Given the description of an element on the screen output the (x, y) to click on. 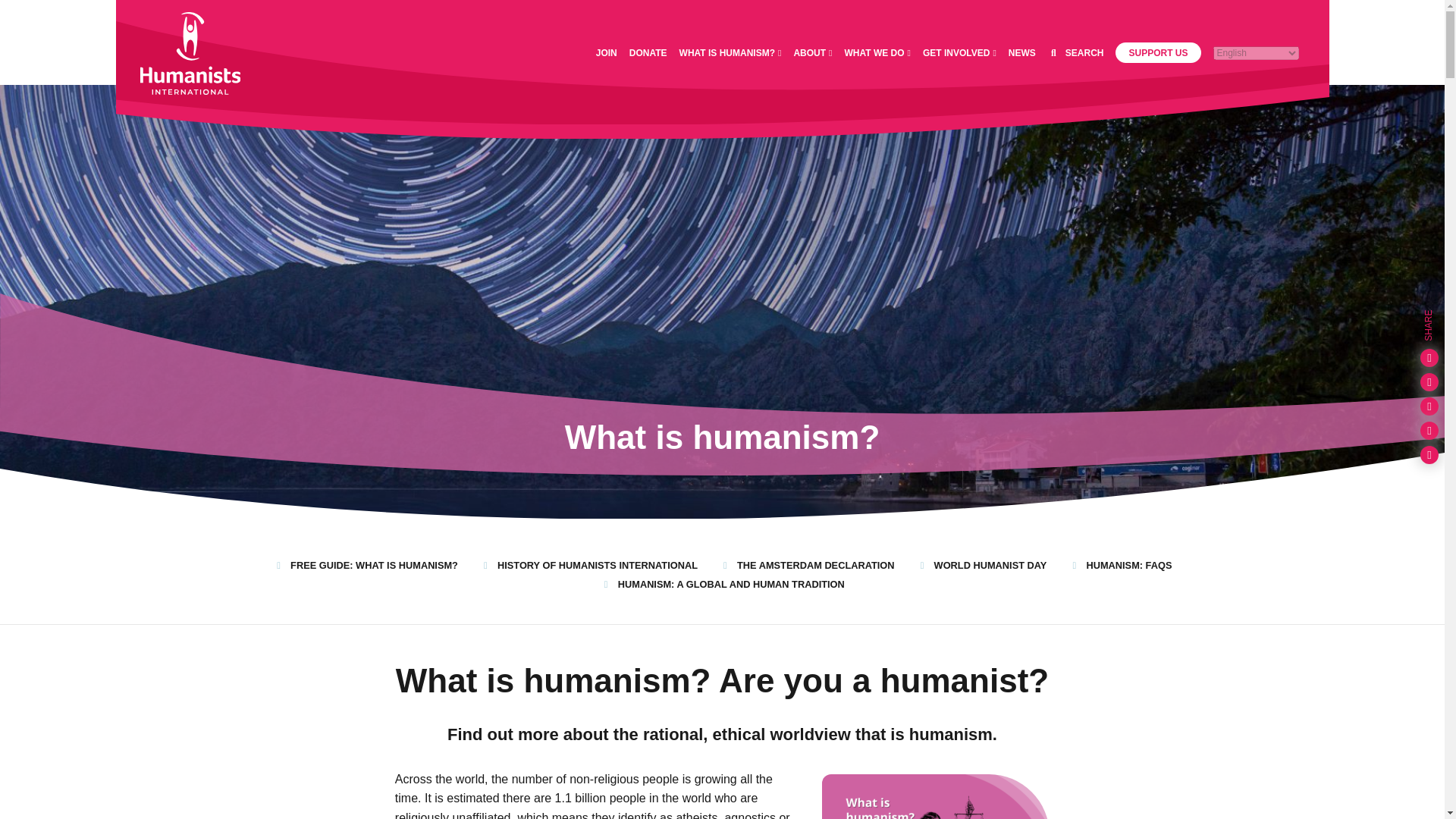
GET INVOLVED (959, 52)
JOIN (606, 52)
WHAT IS HUMANISM? (730, 52)
DONATE (647, 52)
WHAT WE DO (877, 52)
ABOUT (812, 52)
